Given the description of an element on the screen output the (x, y) to click on. 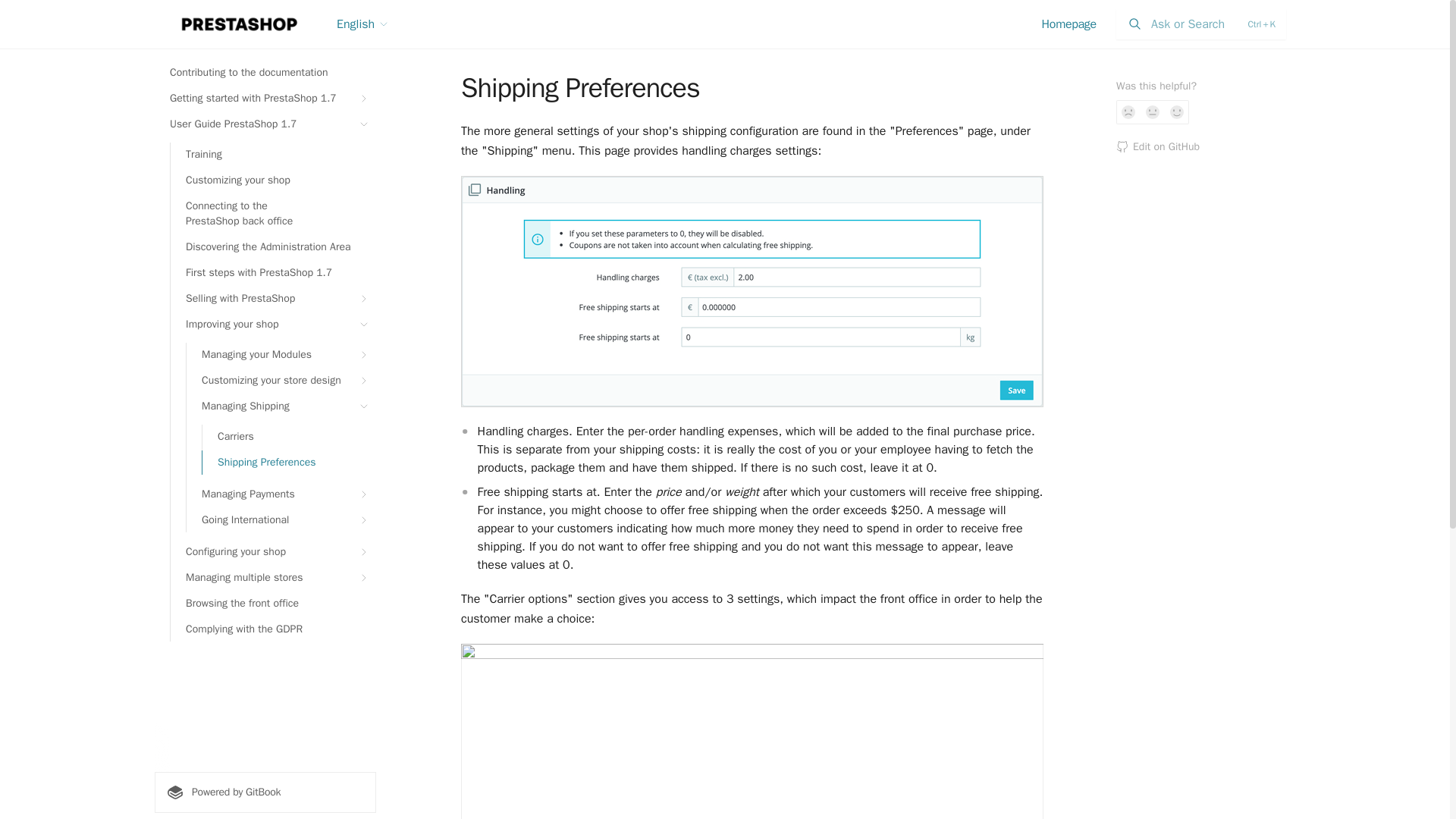
Discovering the Administration Area (272, 247)
Yes, it was! (1176, 111)
Connecting to the PrestaShop back office (272, 213)
Getting started with PrestaShop 1.7 (264, 98)
Contributing to the documentation (264, 72)
Customizing your shop (272, 180)
Homepage (1069, 24)
First steps with PrestaShop 1.7 (272, 273)
Selling with PrestaShop (272, 298)
Not sure (1152, 111)
Training (272, 154)
No (1128, 111)
User Guide PrestaShop 1.7 (264, 124)
